Given the description of an element on the screen output the (x, y) to click on. 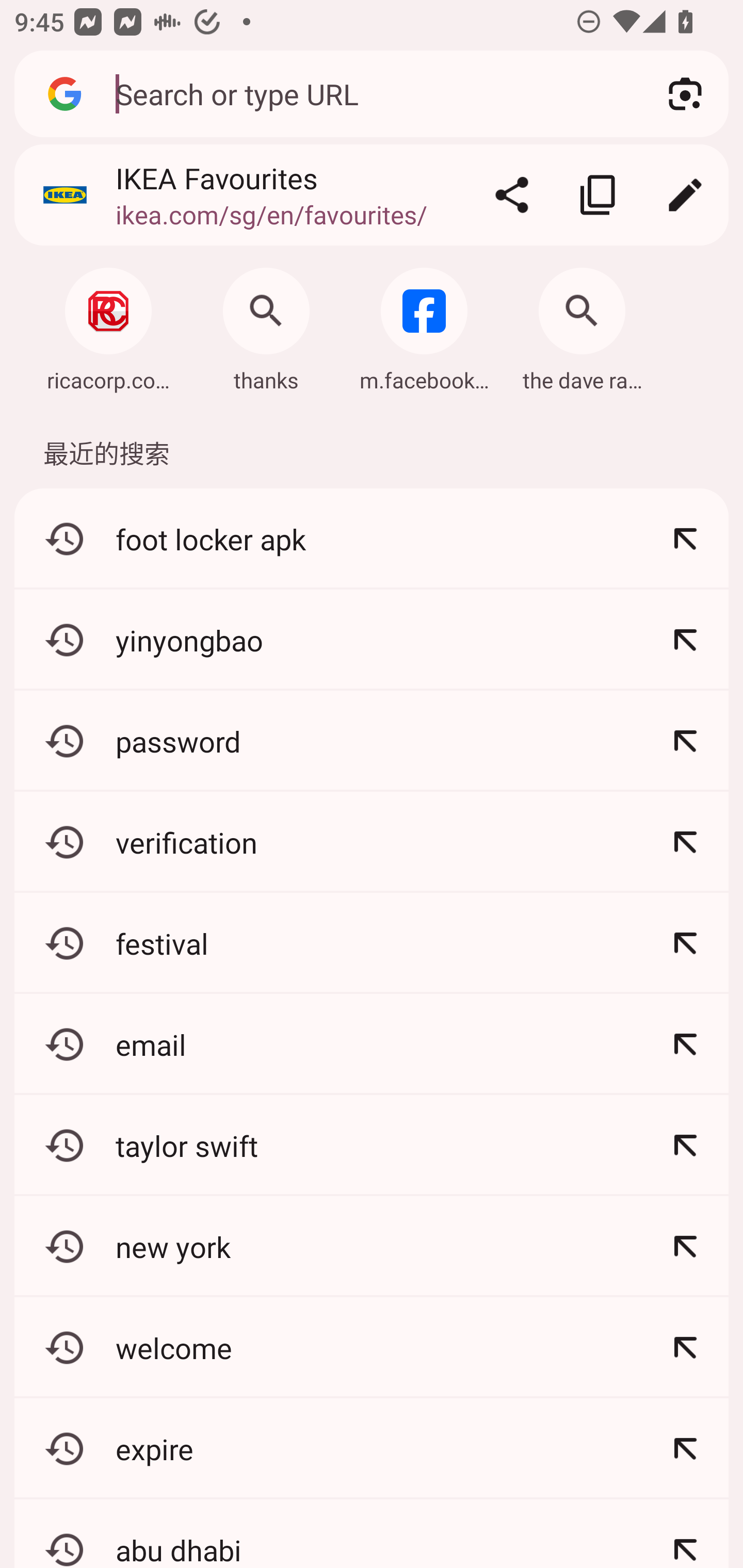
Search with your camera using Google Lens (684, 93)
Search or type URL (367, 92)
Share… (511, 195)
Copy link (598, 195)
Edit (684, 195)
Search: thanks thanks (265, 324)
Search: the dave ramsey show the dave ramsey show (581, 324)
foot locker apk Refine: foot locker apk (371, 539)
Refine: foot locker apk (684, 539)
yinyongbao Refine: yinyongbao (371, 639)
Refine: yinyongbao (684, 639)
password Refine: password (371, 740)
Refine: password (684, 740)
verification Refine: verification (371, 841)
Refine: verification (684, 841)
festival Refine: festival (371, 943)
Refine: festival (684, 943)
email Refine: email (371, 1044)
Refine: email (684, 1044)
taylor swift Refine: taylor swift (371, 1145)
Refine: taylor swift (684, 1145)
new york Refine: new york (371, 1246)
Refine: new york (684, 1246)
welcome Refine: welcome (371, 1347)
Refine: welcome (684, 1347)
expire Refine: expire (371, 1448)
Refine: expire (684, 1448)
abu dhabi Refine: abu dhabi (371, 1533)
Refine: abu dhabi (684, 1533)
